Given the description of an element on the screen output the (x, y) to click on. 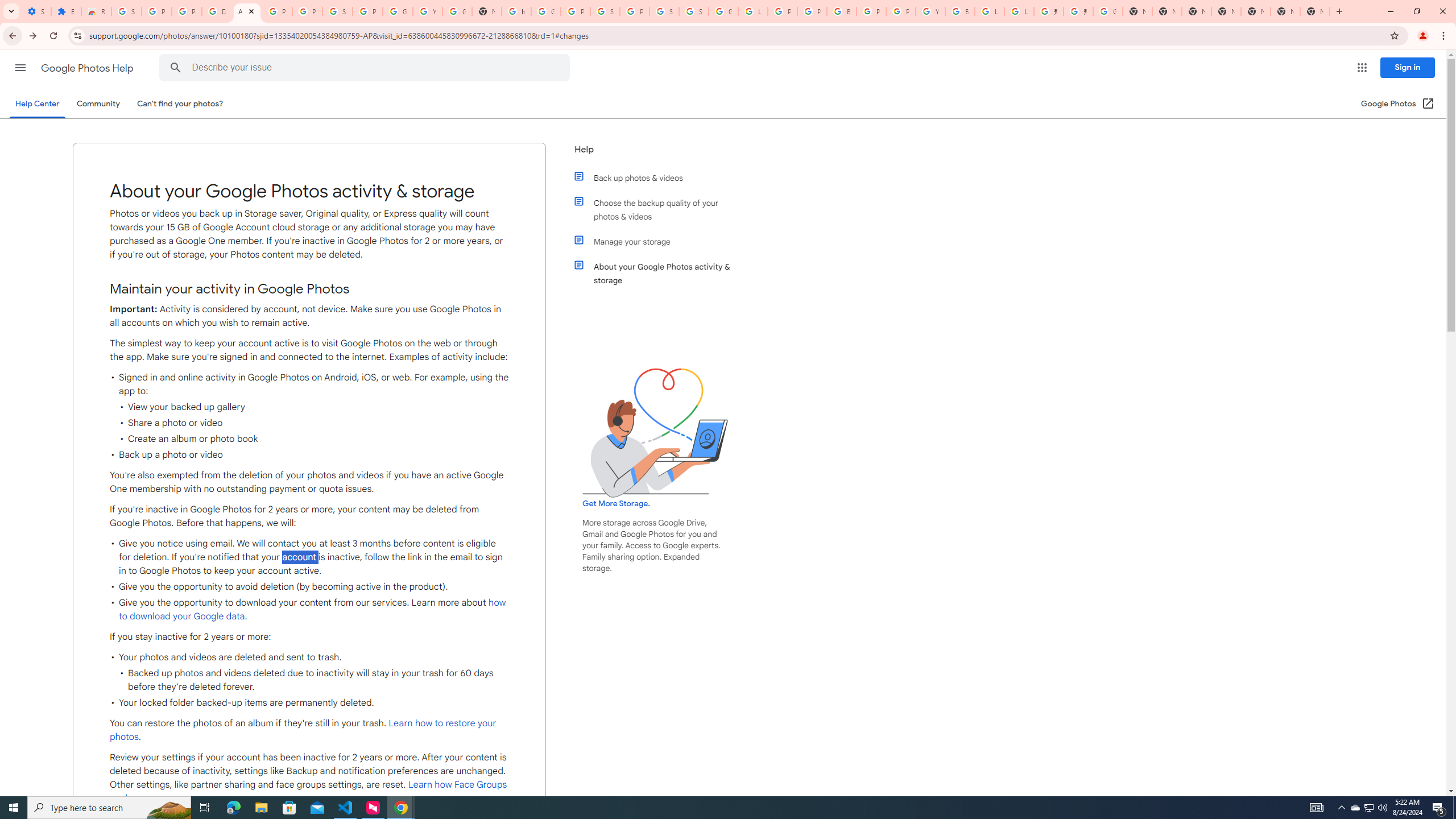
Settings - On startup (36, 11)
Community (97, 103)
Sign in - Google Accounts (693, 11)
About your Google Photos activity & storage (661, 273)
YouTube (930, 11)
